Given the description of an element on the screen output the (x, y) to click on. 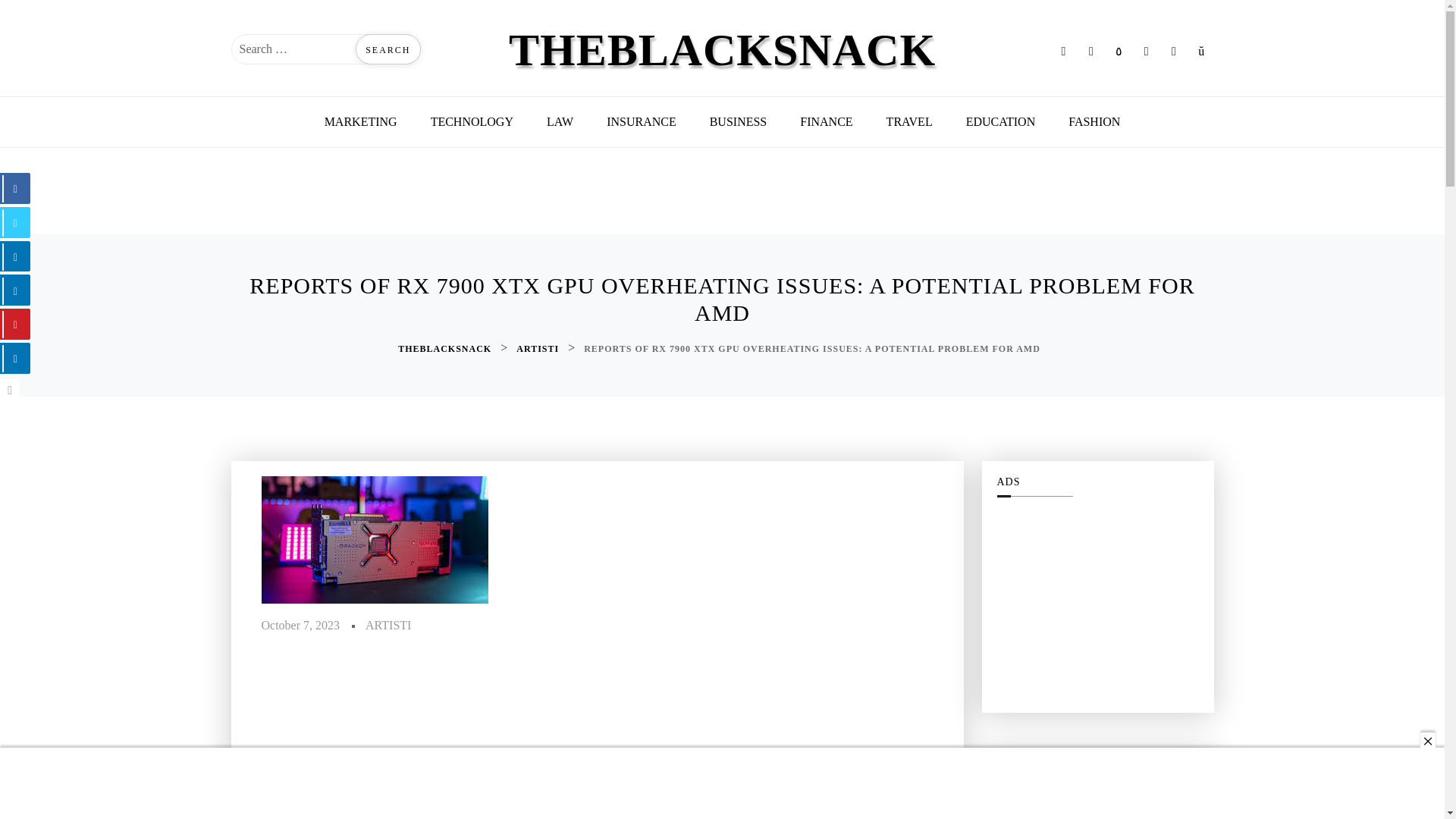
Go to TheBlackSnack. (446, 348)
Go to the ARTISTI Category archives. (539, 348)
Search (387, 49)
Search (387, 49)
